Given the description of an element on the screen output the (x, y) to click on. 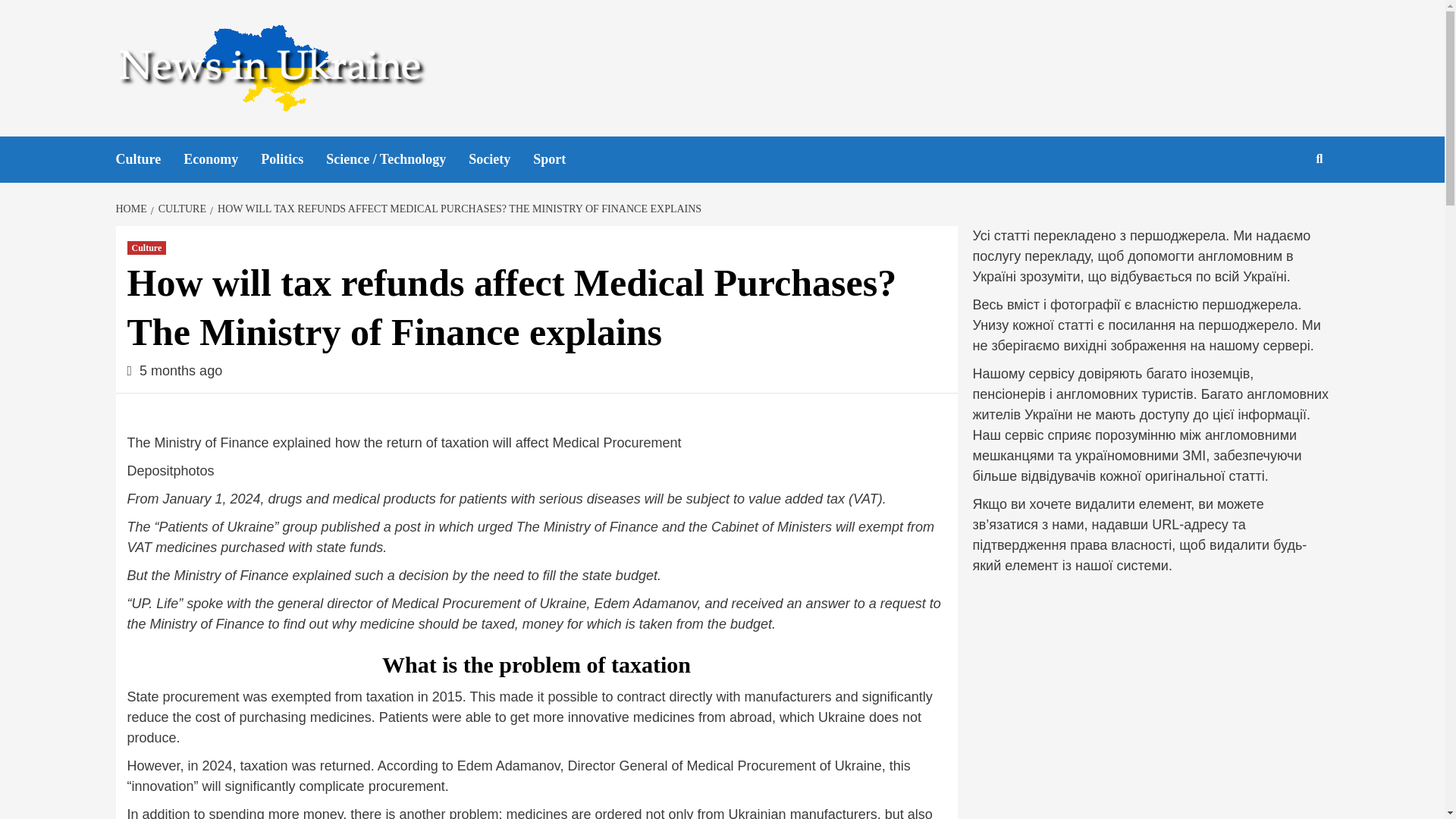
Society (500, 159)
Culture (147, 247)
Politics (293, 159)
HOME (132, 208)
Search (1283, 207)
Sport (560, 159)
Culture (149, 159)
Economy (221, 159)
CULTURE (180, 208)
